Given the description of an element on the screen output the (x, y) to click on. 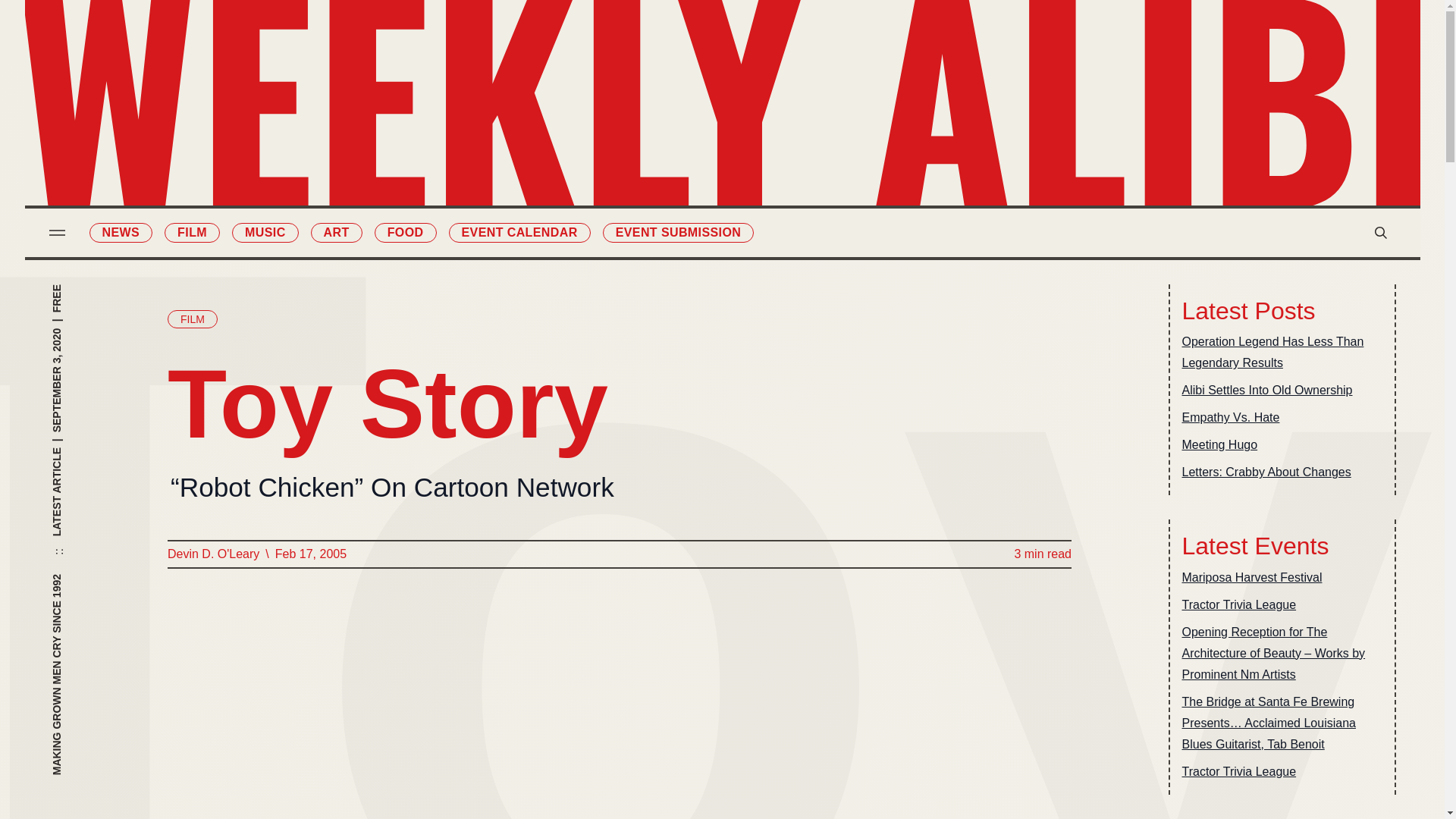
Devin D. O'Leary (213, 554)
EVENT SUBMISSION (678, 232)
ART (336, 232)
EVENT CALENDAR (519, 232)
MUSIC (264, 232)
NEWS (120, 232)
FOOD (405, 232)
FILM (191, 232)
FILM (191, 319)
